Given the description of an element on the screen output the (x, y) to click on. 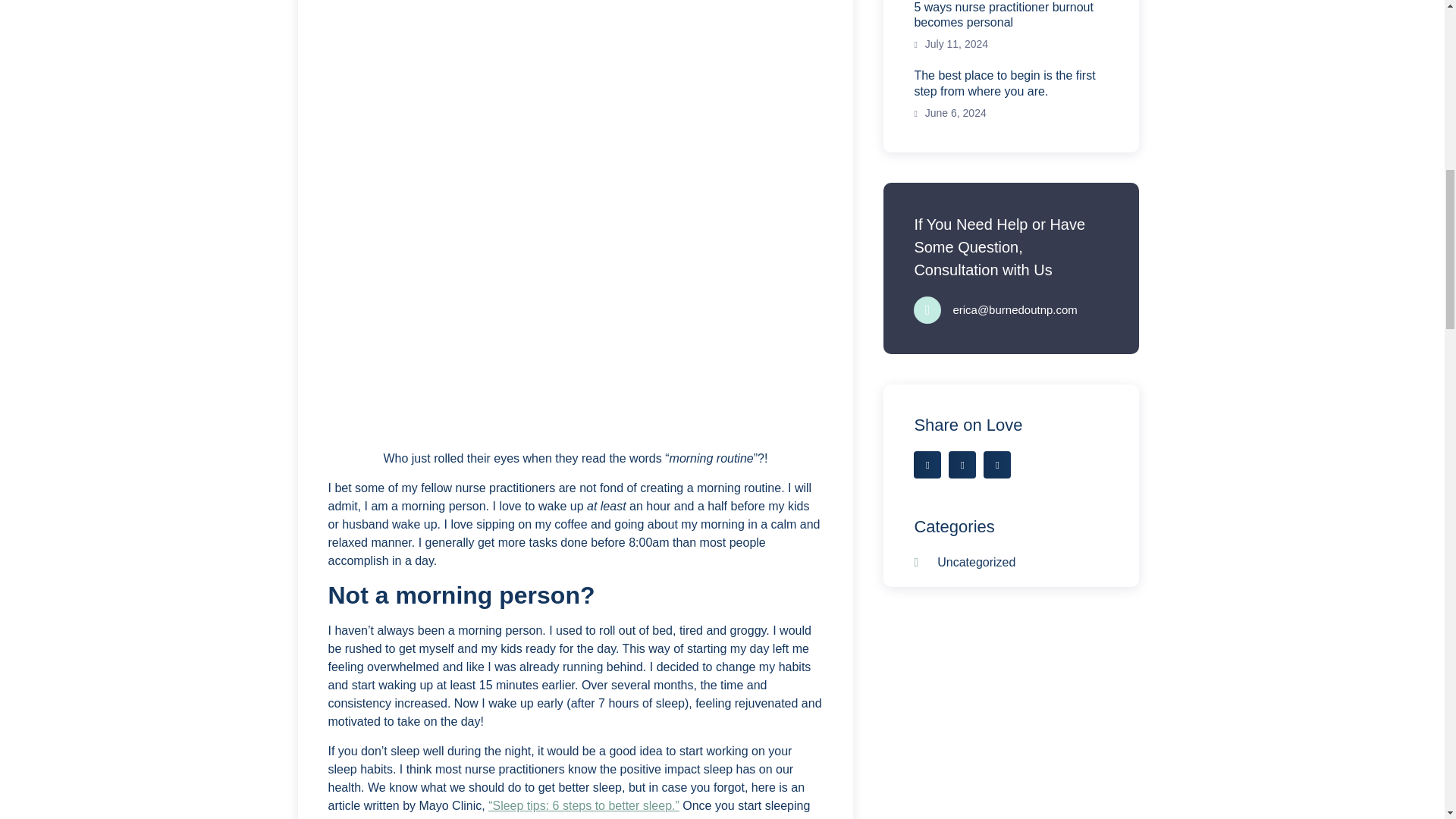
Uncategorized (964, 562)
